Given the description of an element on the screen output the (x, y) to click on. 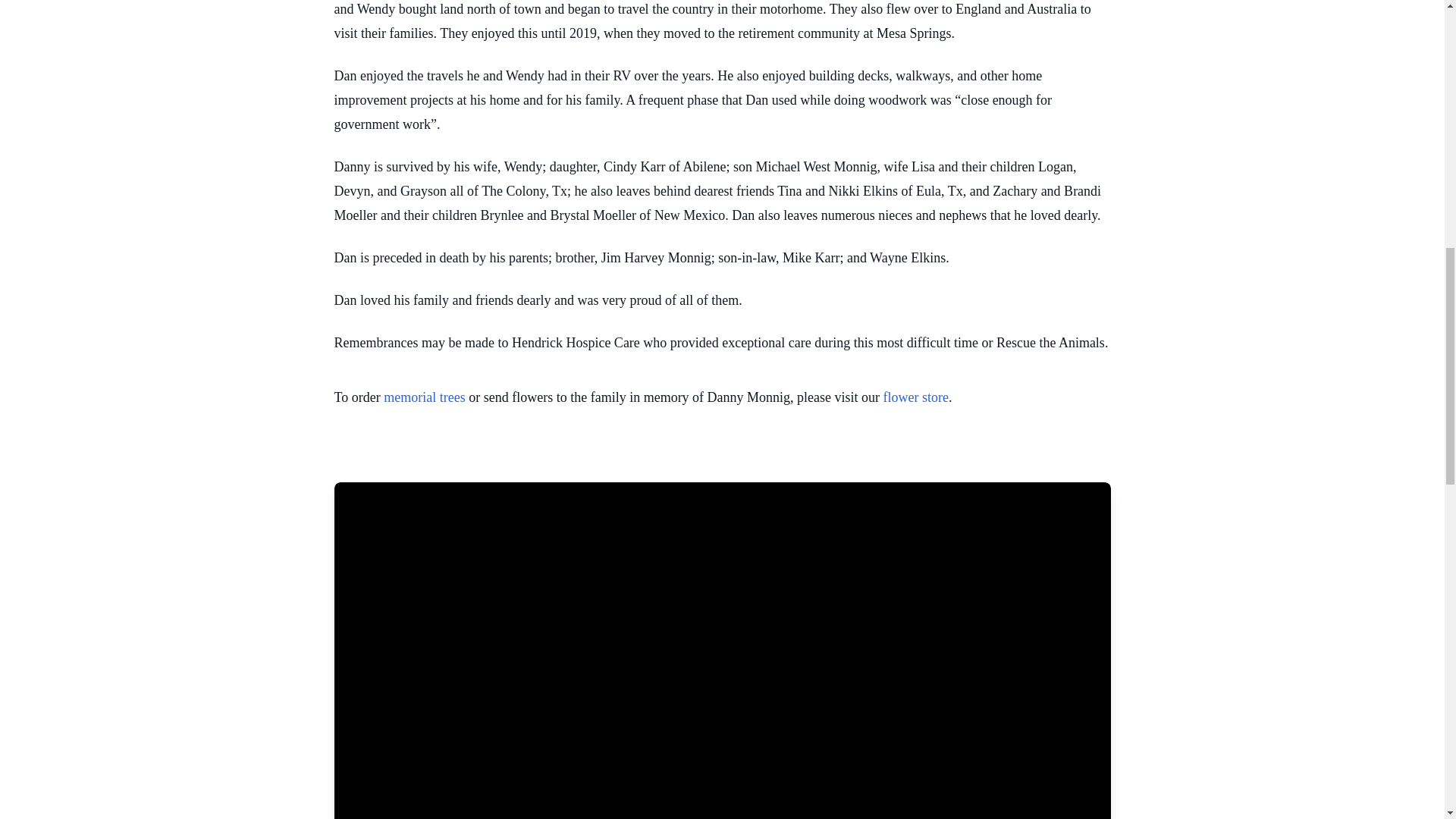
memorial trees (424, 396)
flower store (916, 396)
